Given the description of an element on the screen output the (x, y) to click on. 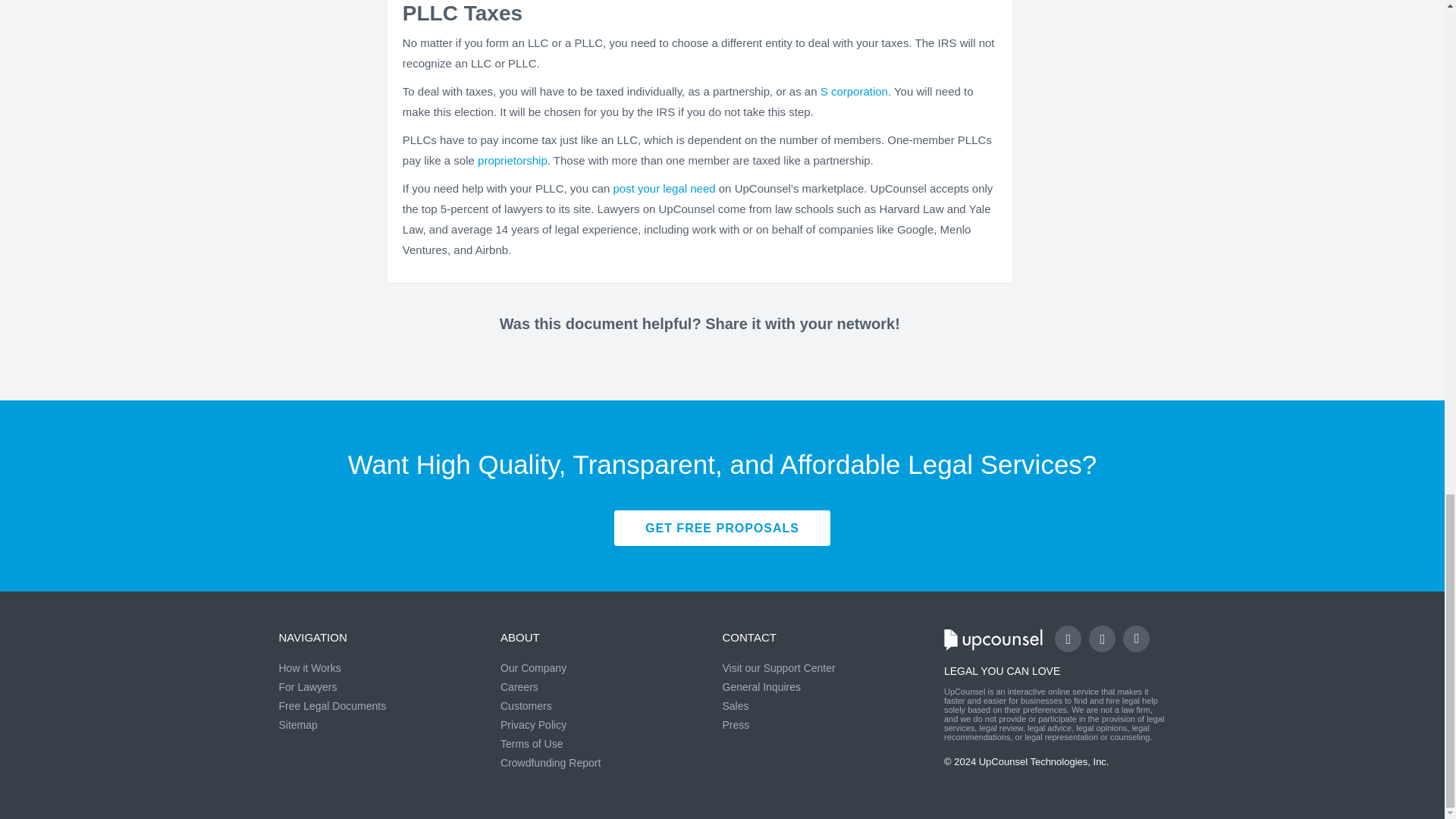
S corporation (854, 91)
proprietorship (512, 160)
Follow us on Twitter (1102, 638)
Like us on Facebook (1067, 638)
post your legal need (663, 187)
Connect with us on LinkedIn (1136, 638)
